Given the description of an element on the screen output the (x, y) to click on. 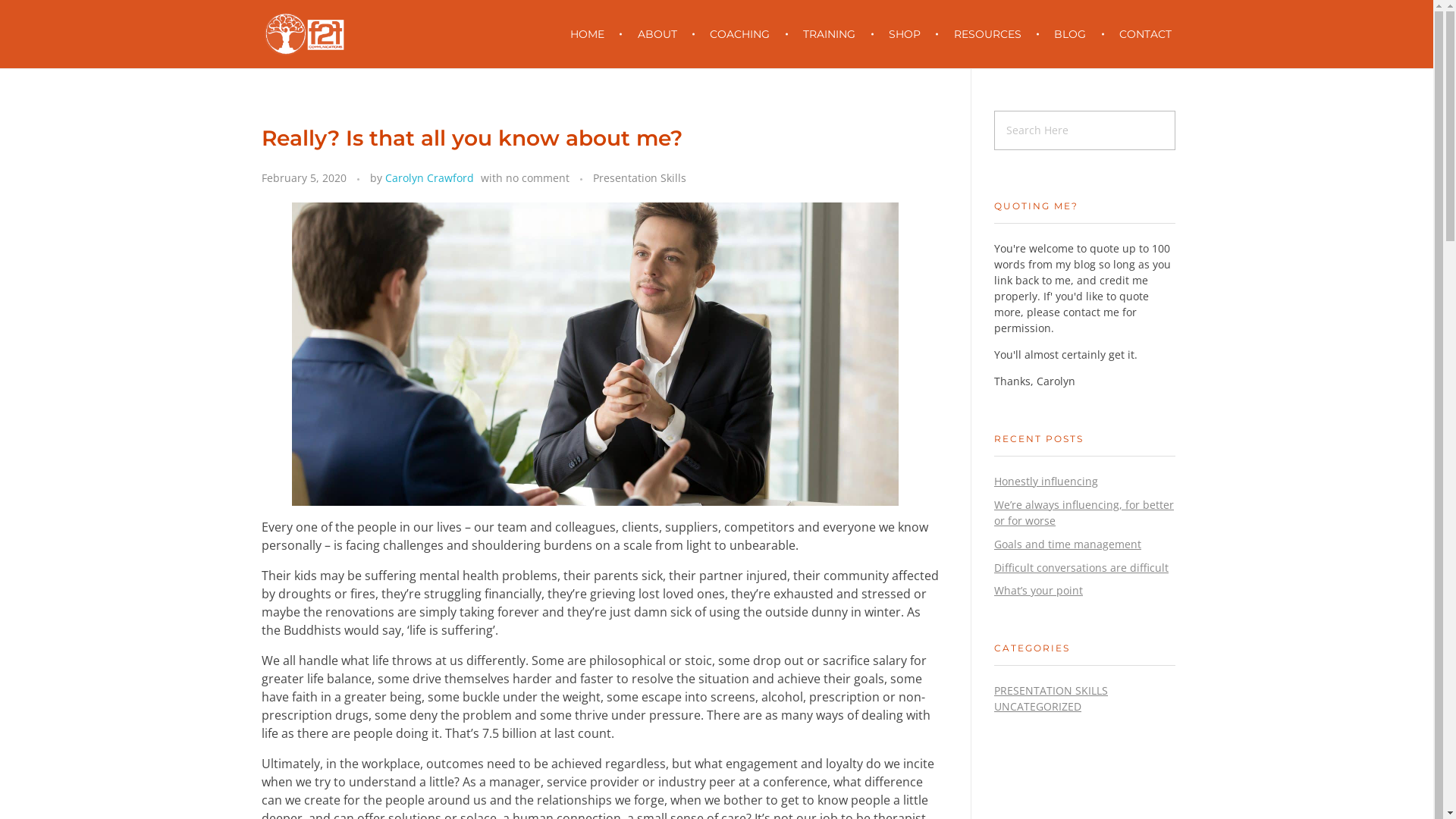
Presentation Skills Element type: text (639, 177)
BLOG Element type: text (1072, 34)
CONTACT Element type: text (1138, 34)
Goals and time management Element type: text (1067, 543)
HOME Element type: text (596, 34)
SHOP Element type: text (906, 34)
Difficult conversations are difficult Element type: text (1081, 567)
Carolyn Crawford Element type: text (429, 177)
RESOURCES Element type: text (989, 34)
Search Element type: text (39, 13)
TRAINING Element type: text (832, 34)
COACHING Element type: text (742, 34)
ABOUT Element type: text (659, 34)
UNCATEGORIZED Element type: text (1037, 706)
PRESENTATION SKILLS Element type: text (1050, 690)
Honestly influencing Element type: text (1046, 480)
